Given the description of an element on the screen output the (x, y) to click on. 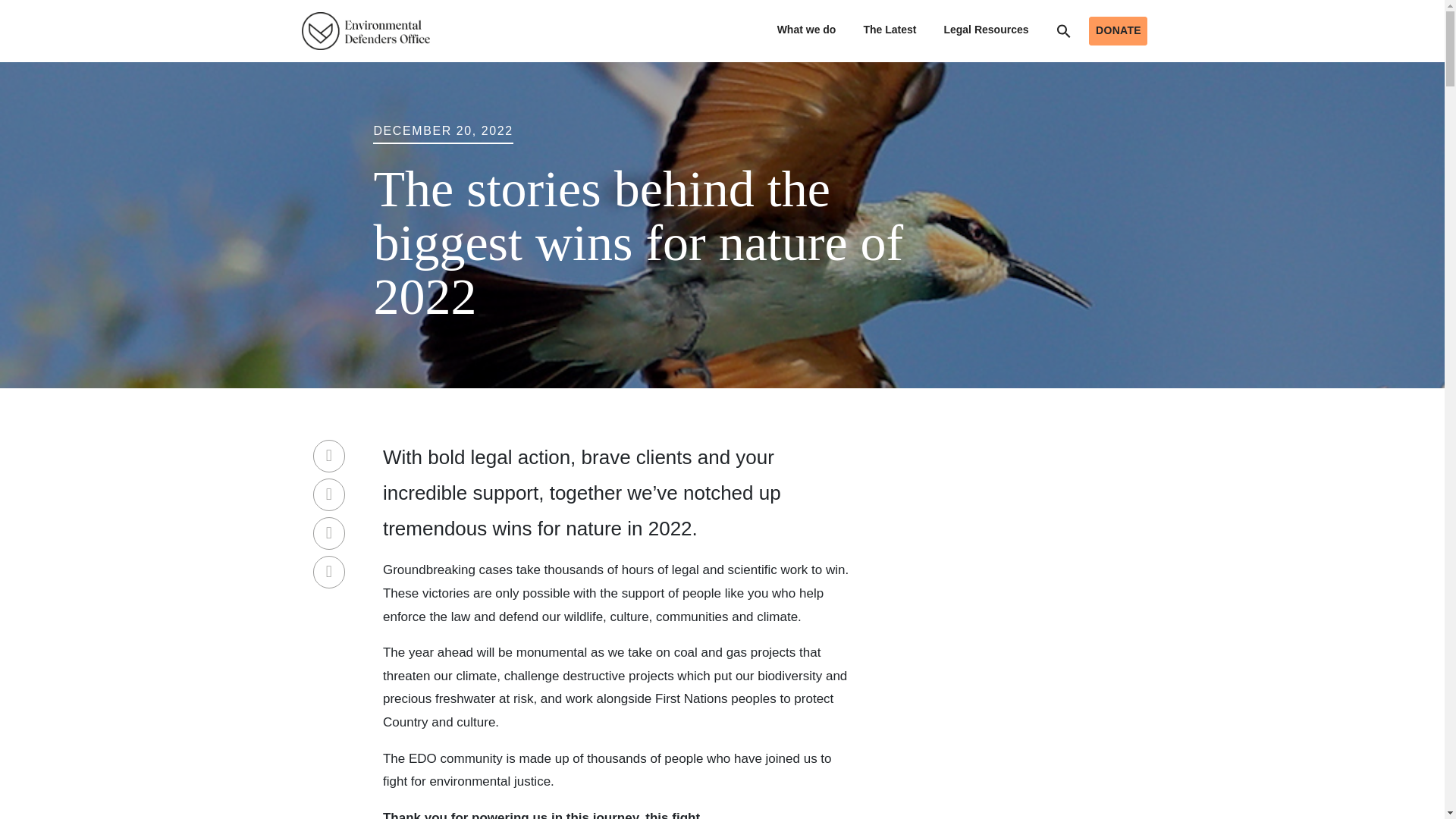
DECEMBER 20, 2022 (442, 130)
The Latest (889, 29)
Legal Resources (985, 29)
What we do (806, 29)
DONATE (1118, 30)
